Given the description of an element on the screen output the (x, y) to click on. 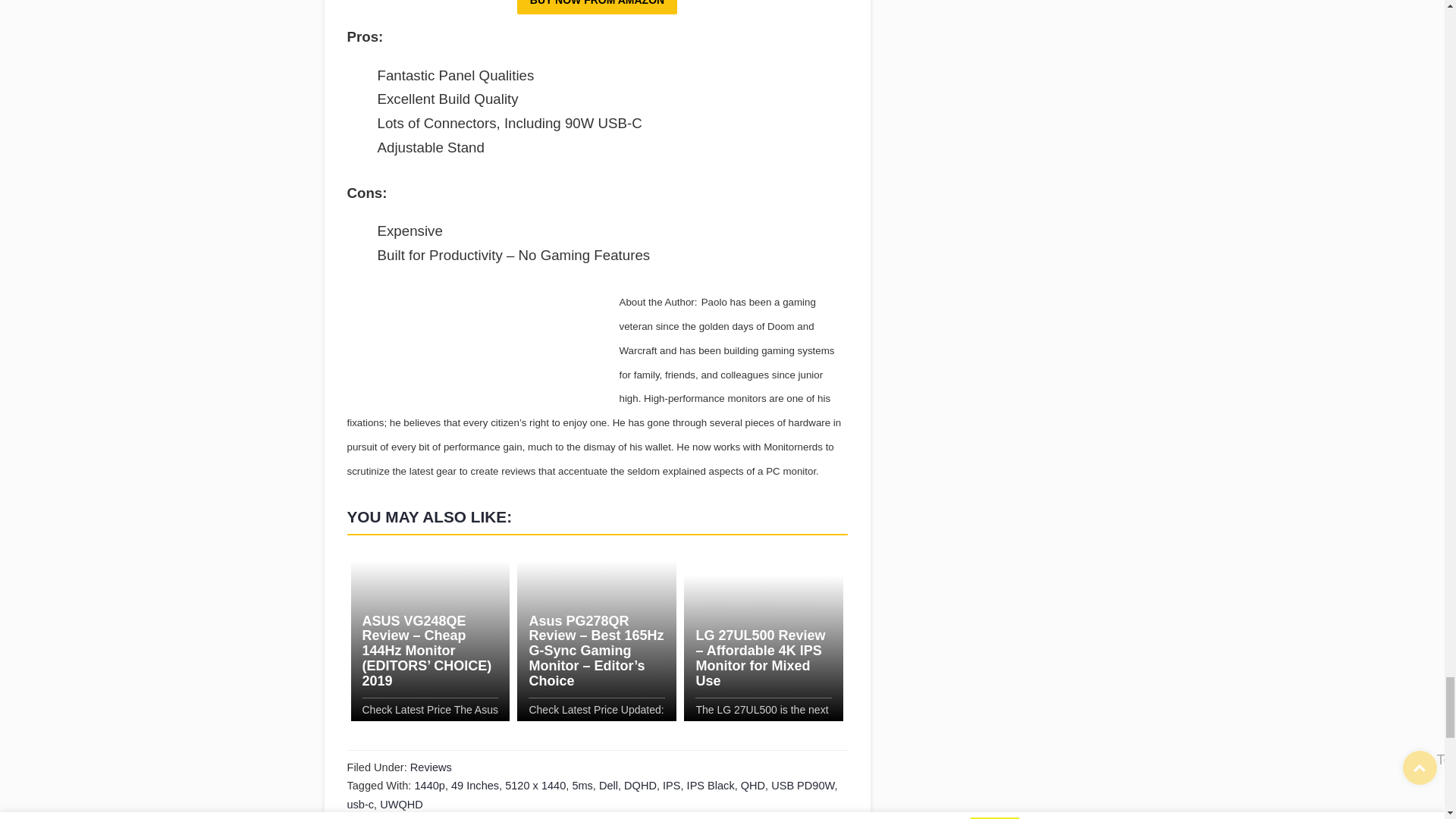
5ms (582, 785)
IPS Black (711, 785)
1440p (428, 785)
Reviews (430, 767)
49 Inches (475, 785)
BUY NOW FROM AMAZON (596, 7)
QHD (753, 785)
usb-c (360, 804)
UWQHD (401, 804)
Dell (607, 785)
